Given the description of an element on the screen output the (x, y) to click on. 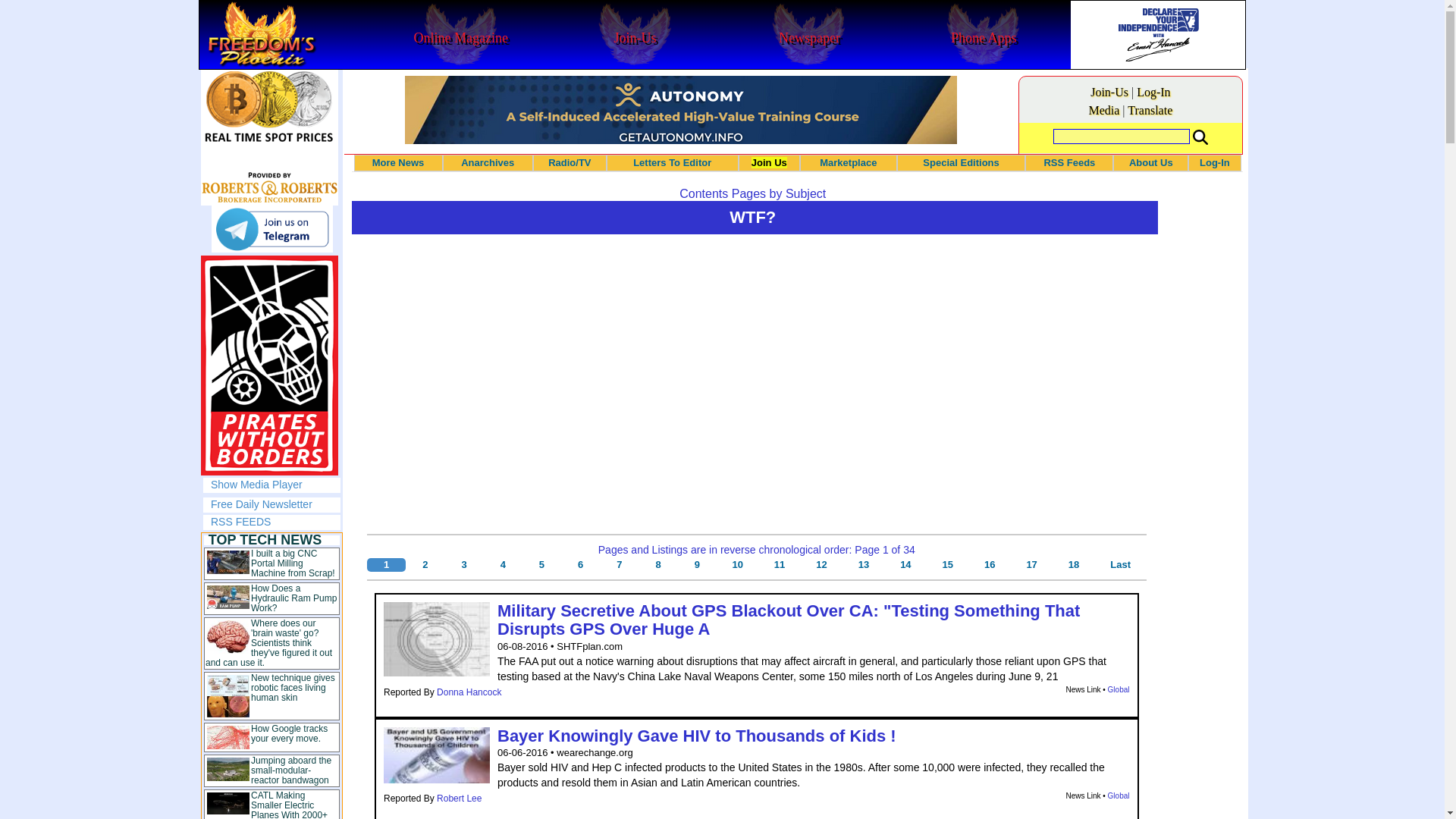
How Does a Hydraulic Ram Pump Work? (293, 598)
How Google tracks your every move. (288, 733)
Free Daily Newsletter (262, 503)
Show Media Player (256, 484)
New technique gives robotic faces living human skin (292, 687)
Declare Your Independence on Telegram (271, 229)
RSS FEEDS (240, 521)
I built a big CNC Portal Milling Machine from Scrap! (292, 562)
A quick description and demo of this ingenious pump. (293, 598)
TOP TECH NEWS (264, 539)
